Given the description of an element on the screen output the (x, y) to click on. 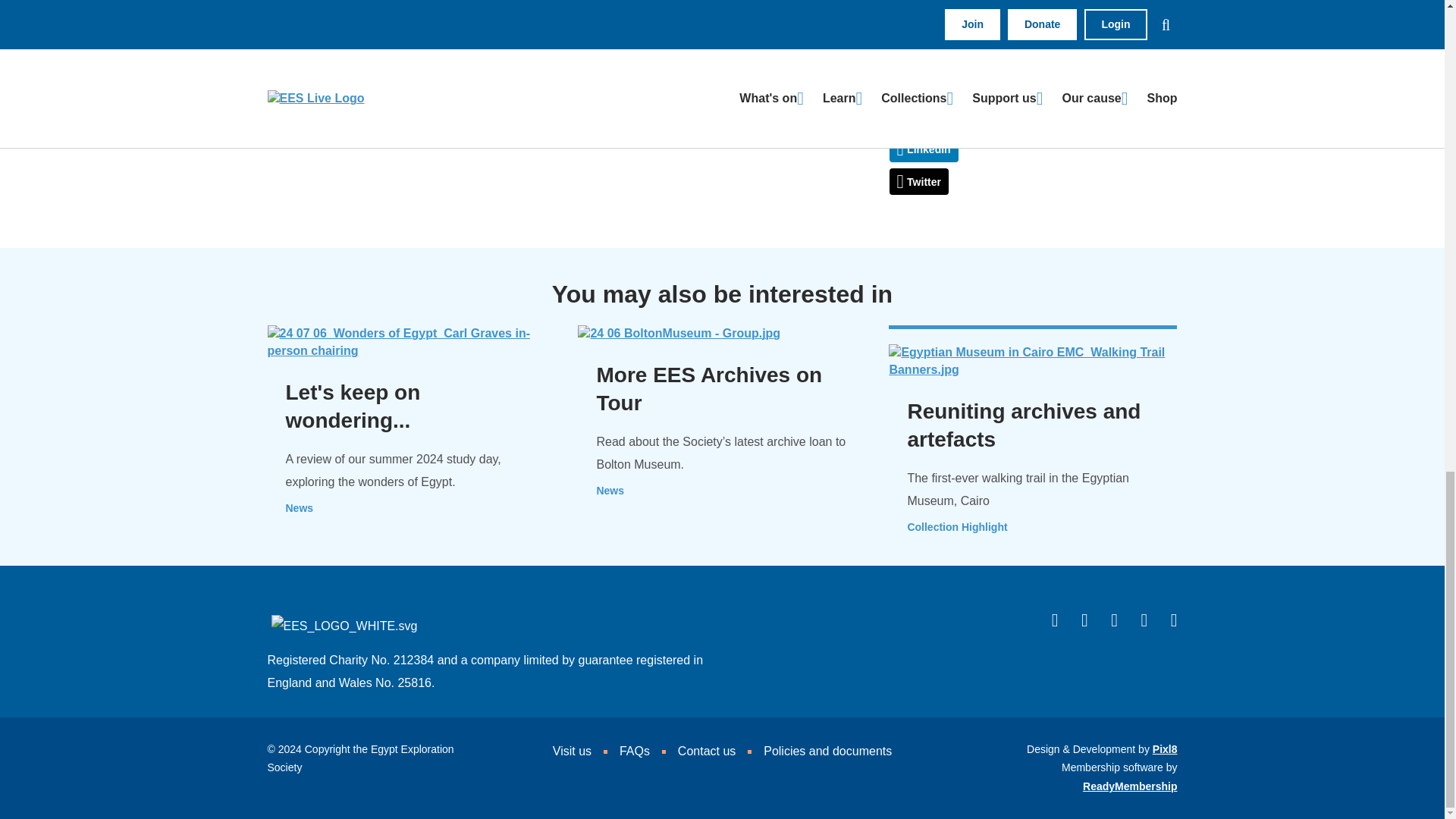
twitter (917, 181)
linkedin (923, 148)
facebook (925, 116)
